Given the description of an element on the screen output the (x, y) to click on. 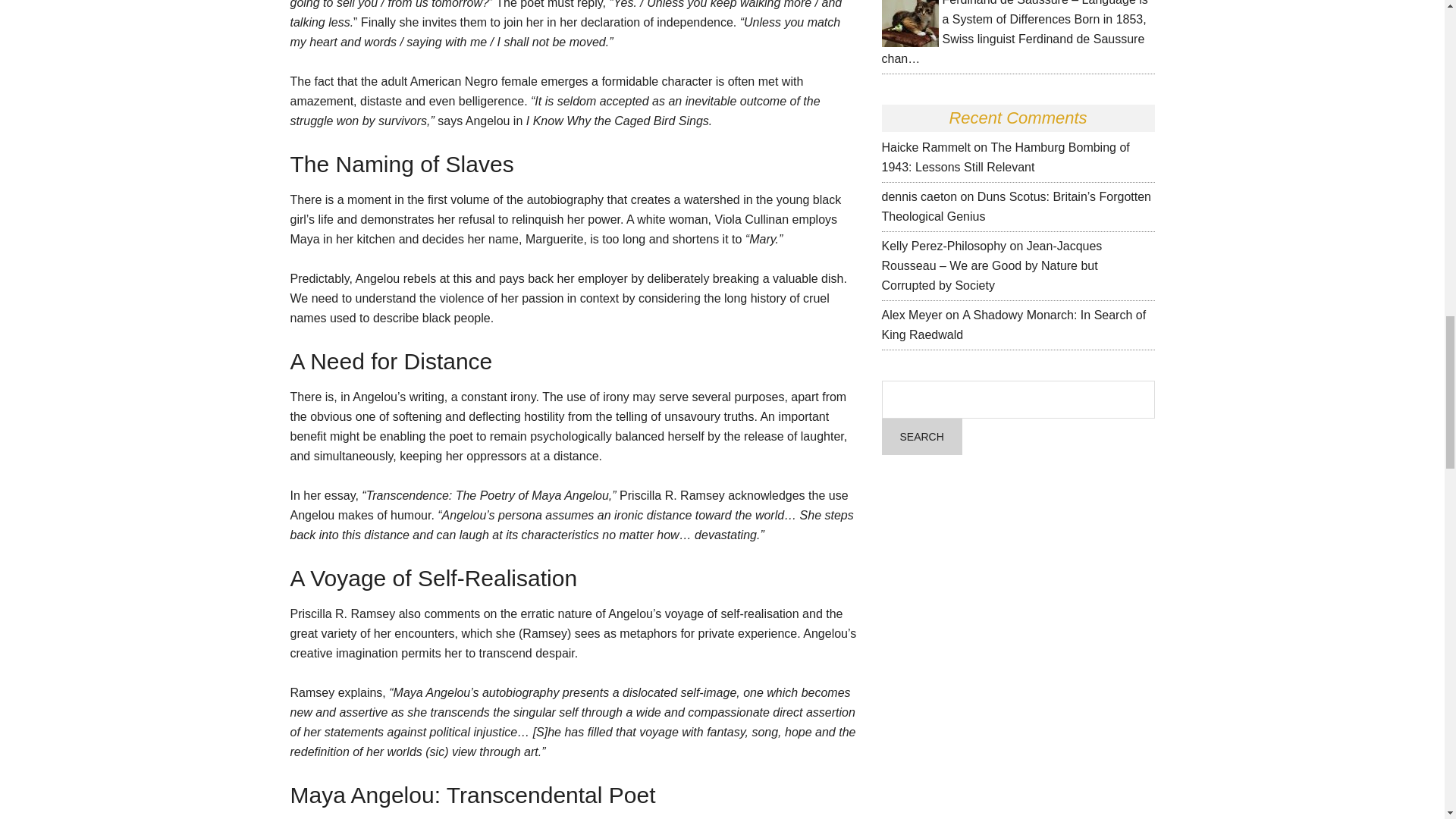
Search (920, 436)
